Given the description of an element on the screen output the (x, y) to click on. 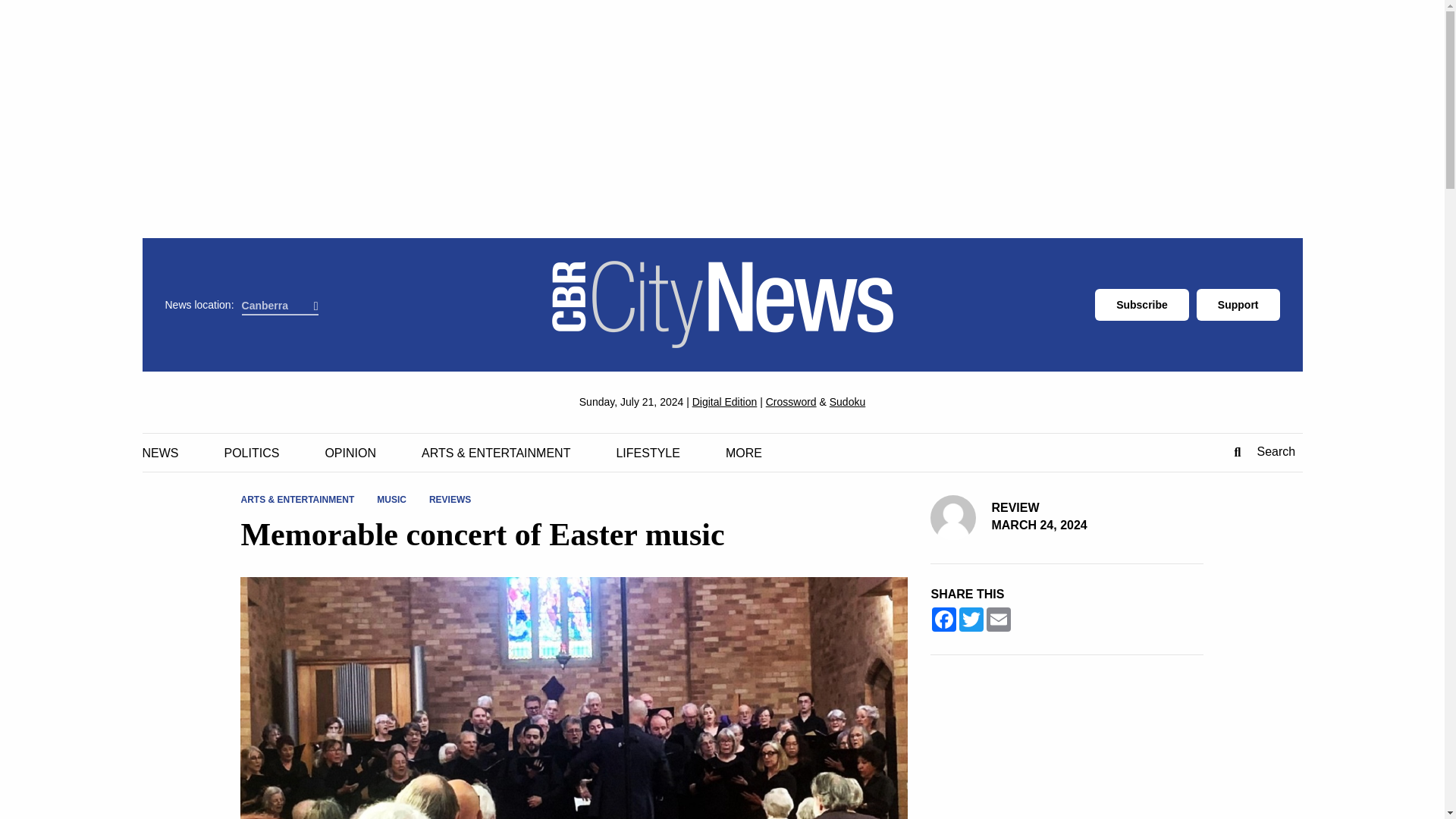
Support (1237, 305)
OPINION (349, 452)
Subscribe (1141, 305)
Sudoku (846, 401)
Crossword (790, 401)
3rd party ad content (1066, 751)
Digital Edition (725, 401)
Canberra CityNews (722, 304)
NEWS (160, 452)
CANBERRA CITYNEWS (722, 304)
POLITICS (251, 452)
